Given the description of an element on the screen output the (x, y) to click on. 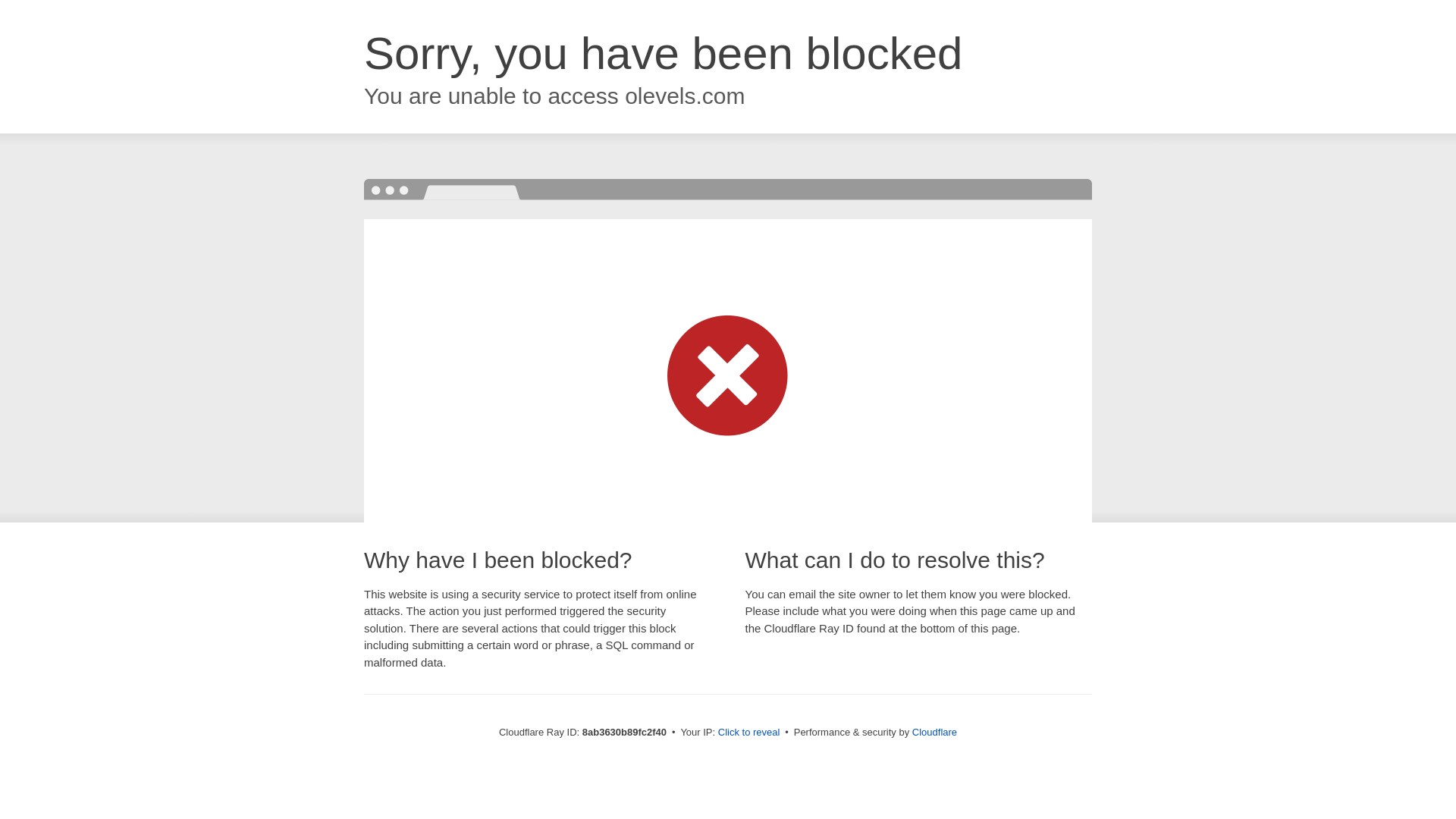
Click to reveal (748, 732)
Cloudflare (934, 731)
